Given the description of an element on the screen output the (x, y) to click on. 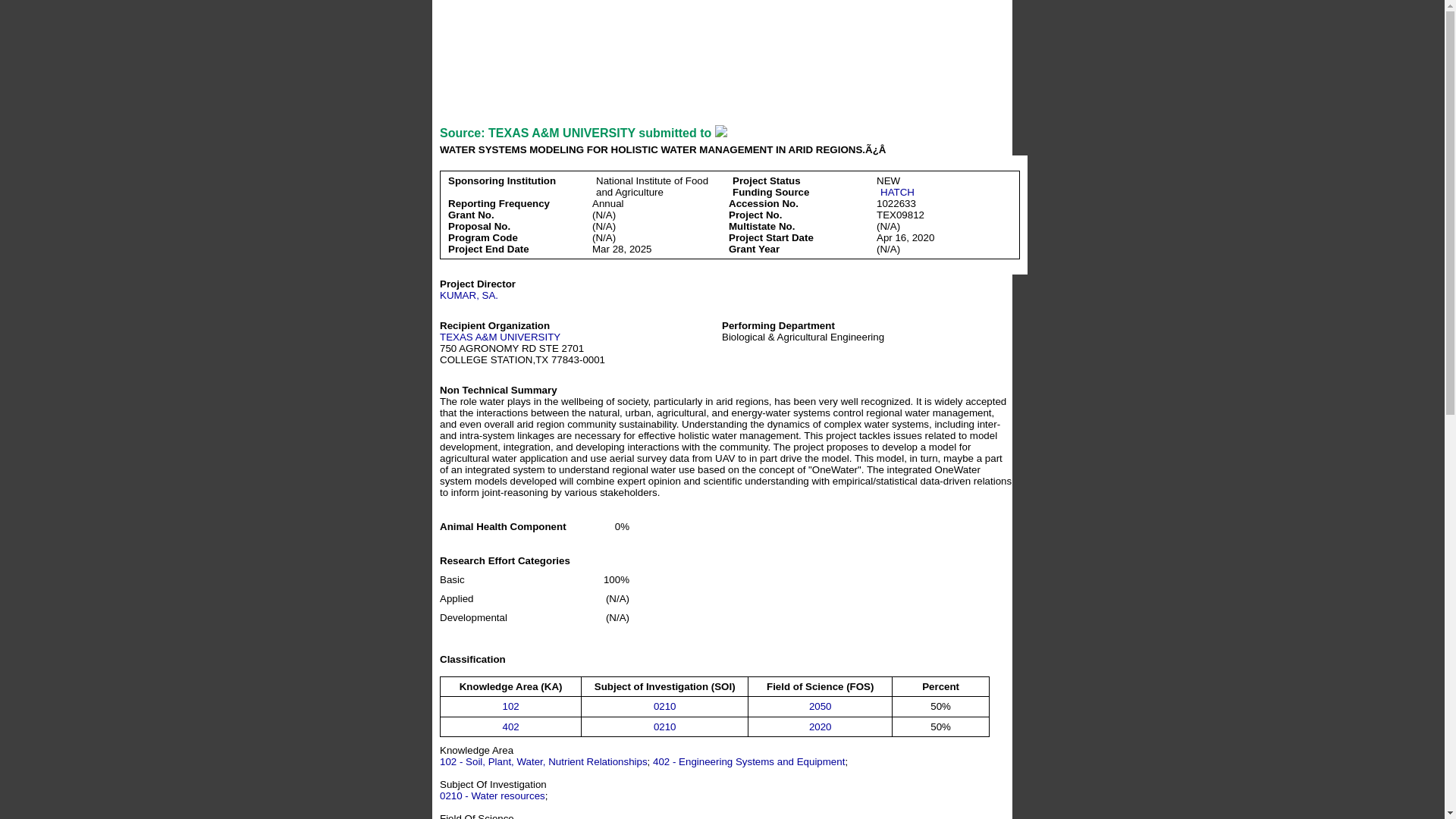
2020 (820, 726)
2050 (820, 706)
0210 - Water resources (491, 795)
REEIS Logo (931, 36)
402 (510, 726)
Click here for more on Water resources (491, 795)
0210 (665, 726)
Click for more projects with this Funding Source (897, 192)
102 (510, 706)
402 - Engineering Systems and Equipment (748, 761)
Click for more projects on Water resources (665, 706)
Click for more projects for this Project Director (468, 295)
Click for more projects for this Recipient Organization (499, 337)
Click for more projects on Engineering Systems and Equipment (510, 726)
